Given the description of an element on the screen output the (x, y) to click on. 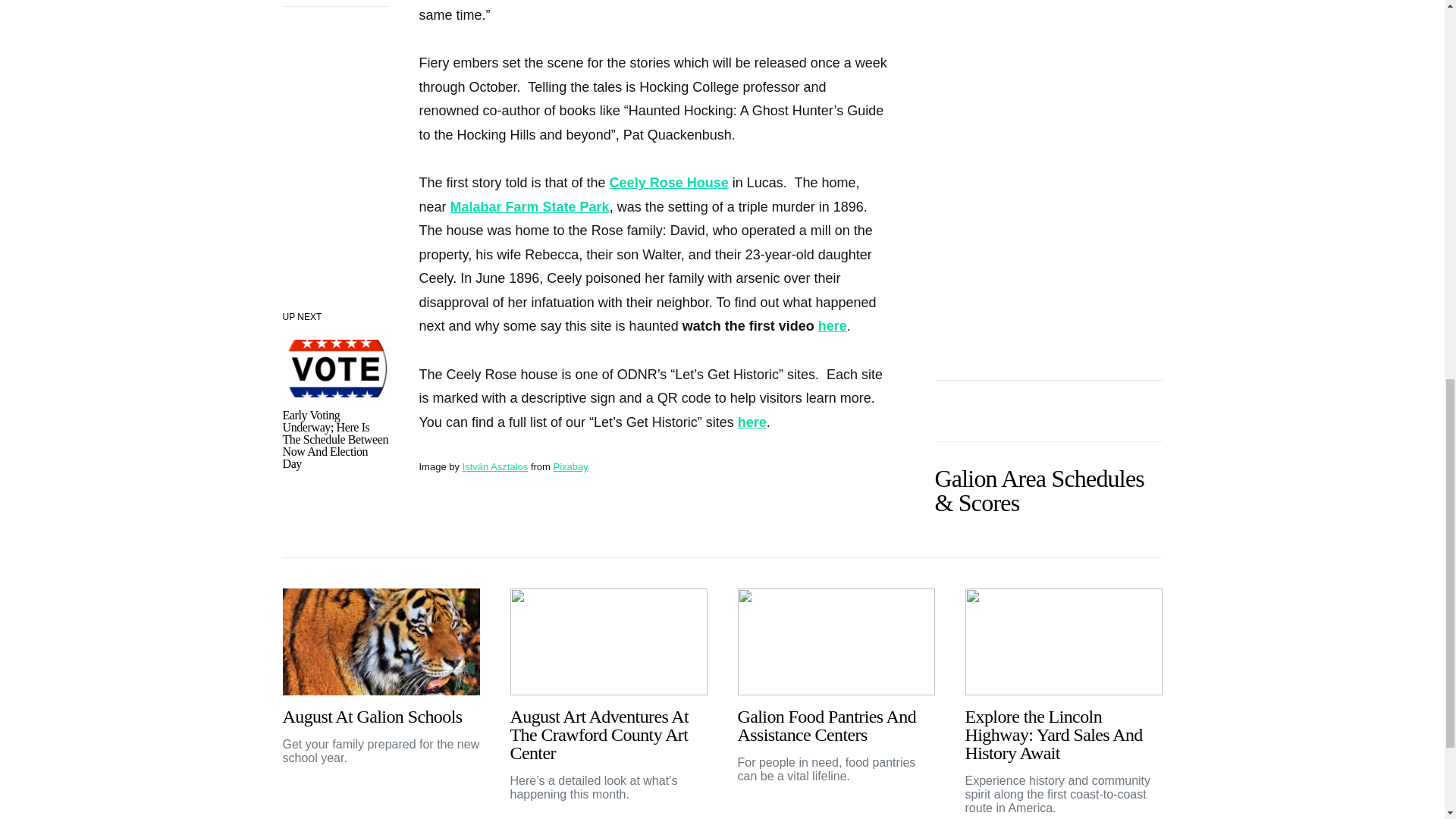
Ceely Rose House (669, 182)
here (832, 325)
Malabar Farm State Park (529, 206)
here (752, 421)
Pixabay (570, 466)
